Given the description of an element on the screen output the (x, y) to click on. 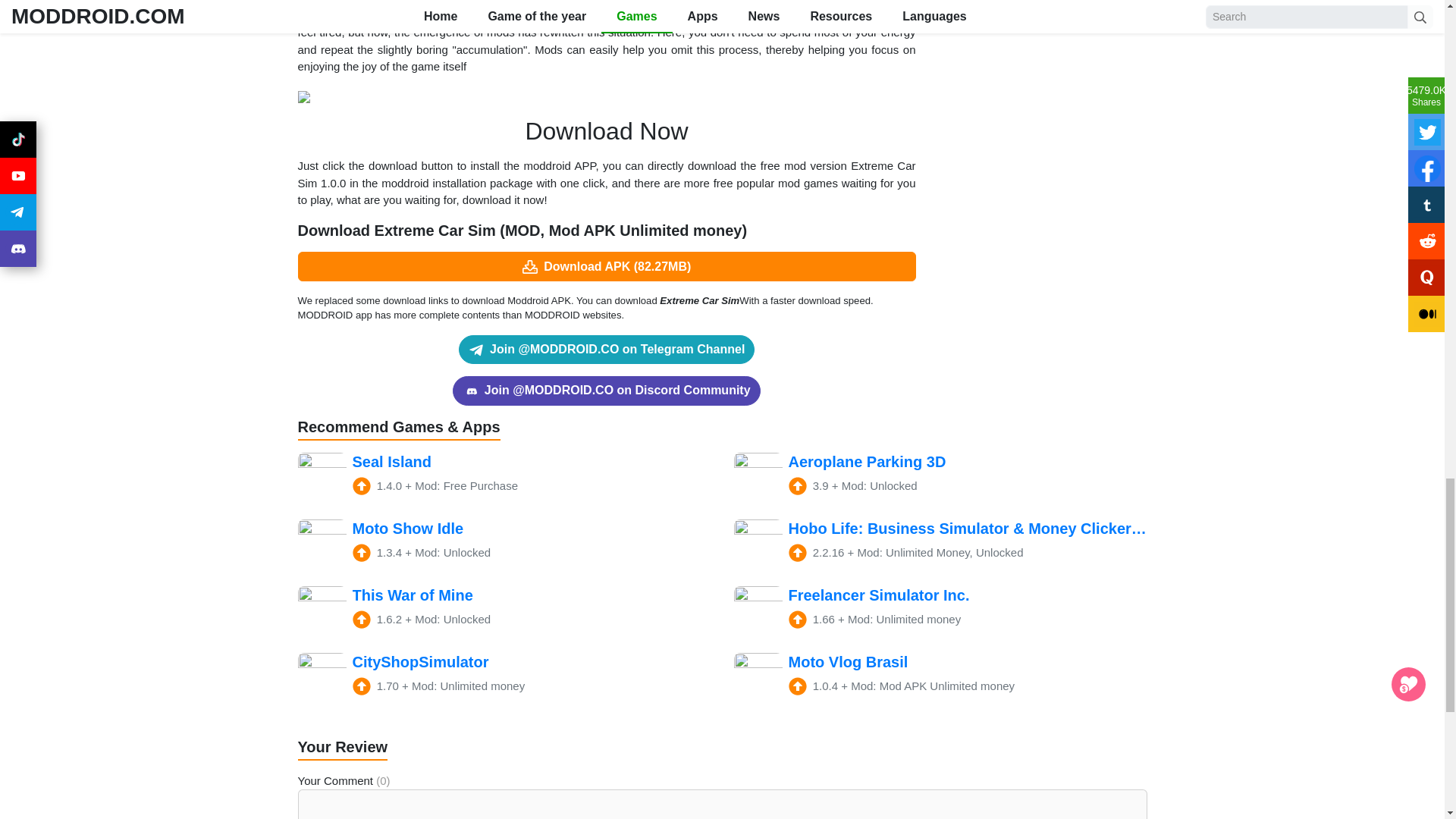
Moto Vlog Brasil (940, 676)
Moto Show Idle (503, 543)
Aeroplane Parking 3D (940, 476)
This War of Mine (503, 610)
Freelancer Simulator Inc. (940, 610)
CityShopSimulator (503, 676)
Seal Island (503, 476)
